Given the description of an element on the screen output the (x, y) to click on. 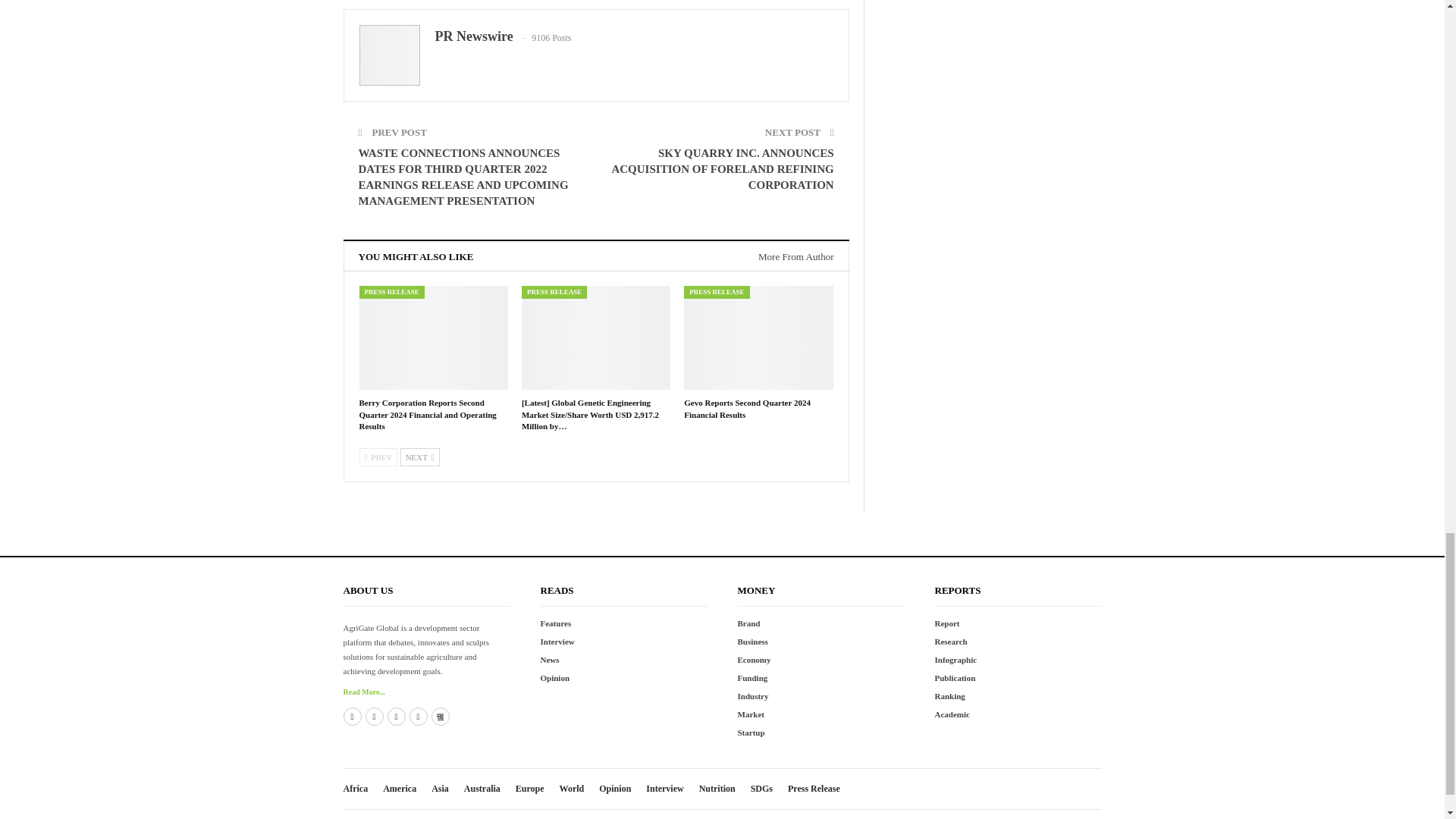
Gevo Reports Second Quarter 2024 Financial Results (747, 408)
Gevo Reports Second Quarter 2024 Financial Results (758, 337)
